Given the description of an element on the screen output the (x, y) to click on. 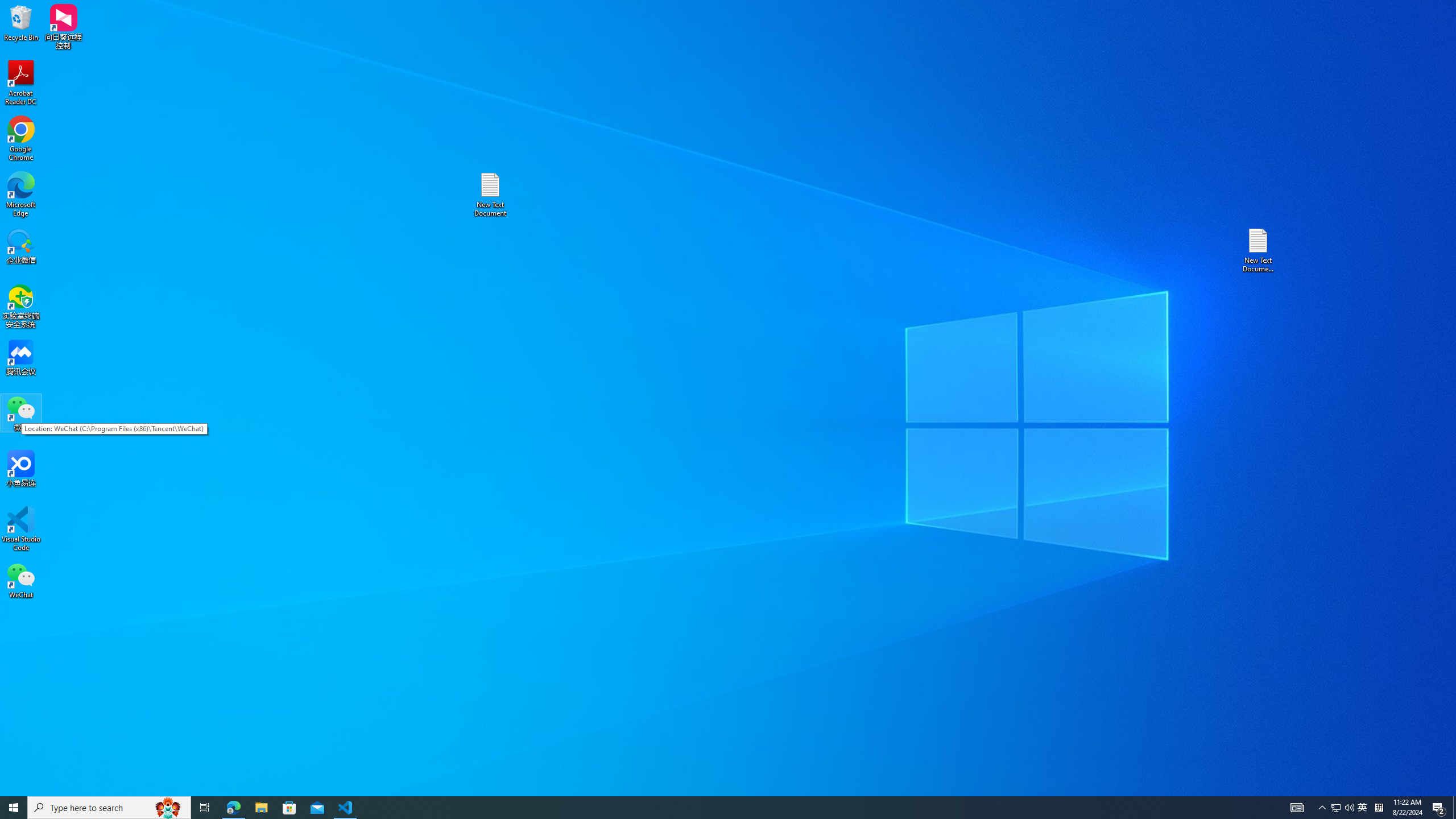
Type here to search (108, 807)
Q2790: 100% (1349, 807)
Google Chrome (21, 138)
Notification Chevron (1322, 807)
Microsoft Edge (1362, 807)
Tray Input Indicator - Chinese (Simplified, China) (21, 194)
Show desktop (1378, 807)
User Promoted Notification Area (1454, 807)
Start (1342, 807)
Visual Studio Code - 1 running window (13, 807)
